Given the description of an element on the screen output the (x, y) to click on. 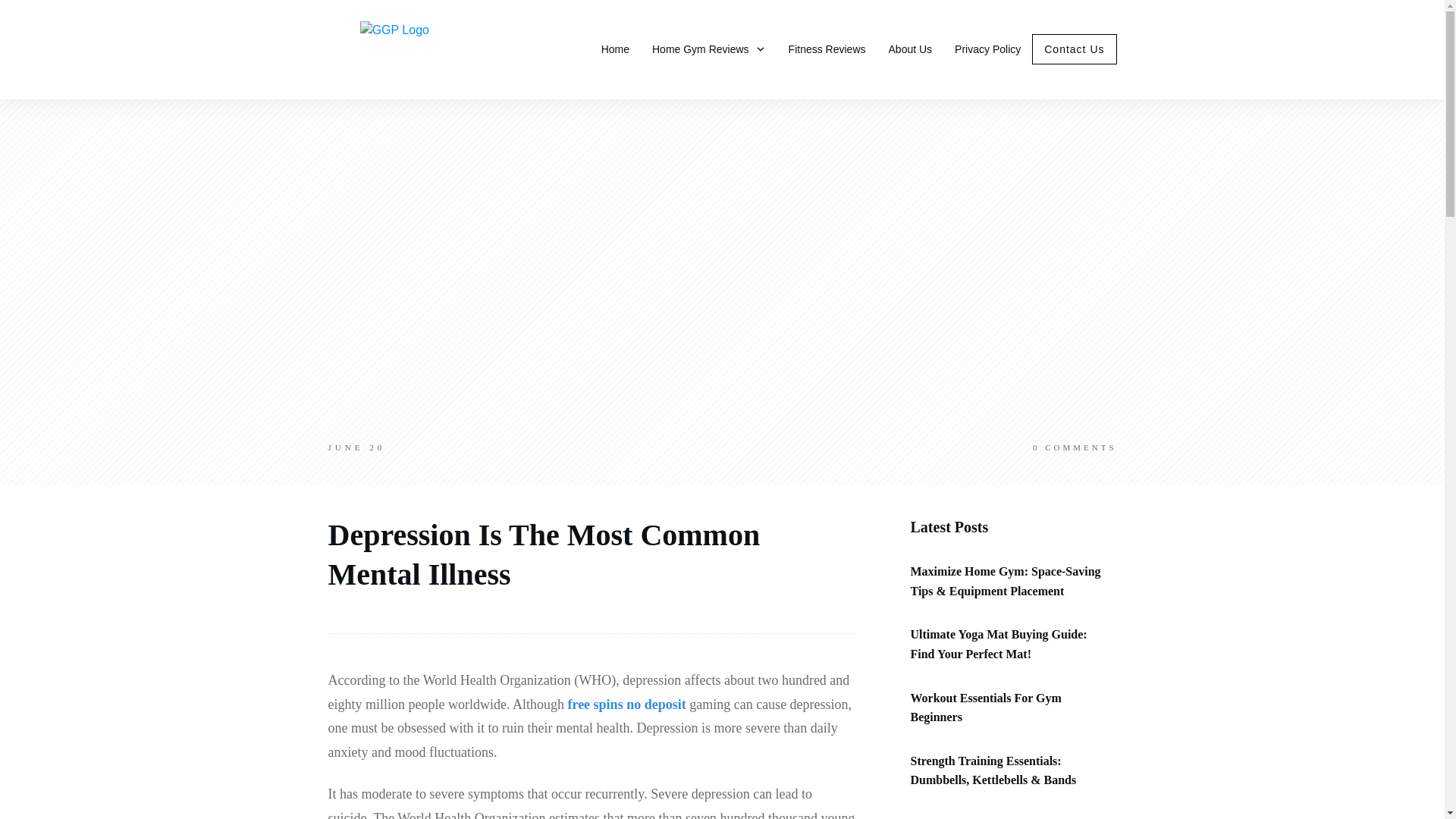
About Us (910, 48)
Depression Is The Most Common Mental Illness (543, 554)
free spins no deposit (626, 703)
Contact Us (1073, 48)
Workout Essentials For Gym Beginners (985, 707)
Depression Is The Most Common Mental Illness (543, 554)
Fitness Reviews (827, 48)
Home Gym Reviews (708, 48)
Ultimate Yoga Mat Buying Guide: Find Your Perfect Mat! (998, 644)
Home (614, 48)
Ultimate Yoga Mat Buying Guide: Find Your Perfect Mat! (998, 644)
Workout Essentials For Gym Beginners (985, 707)
Privacy Policy (987, 48)
